Given the description of an element on the screen output the (x, y) to click on. 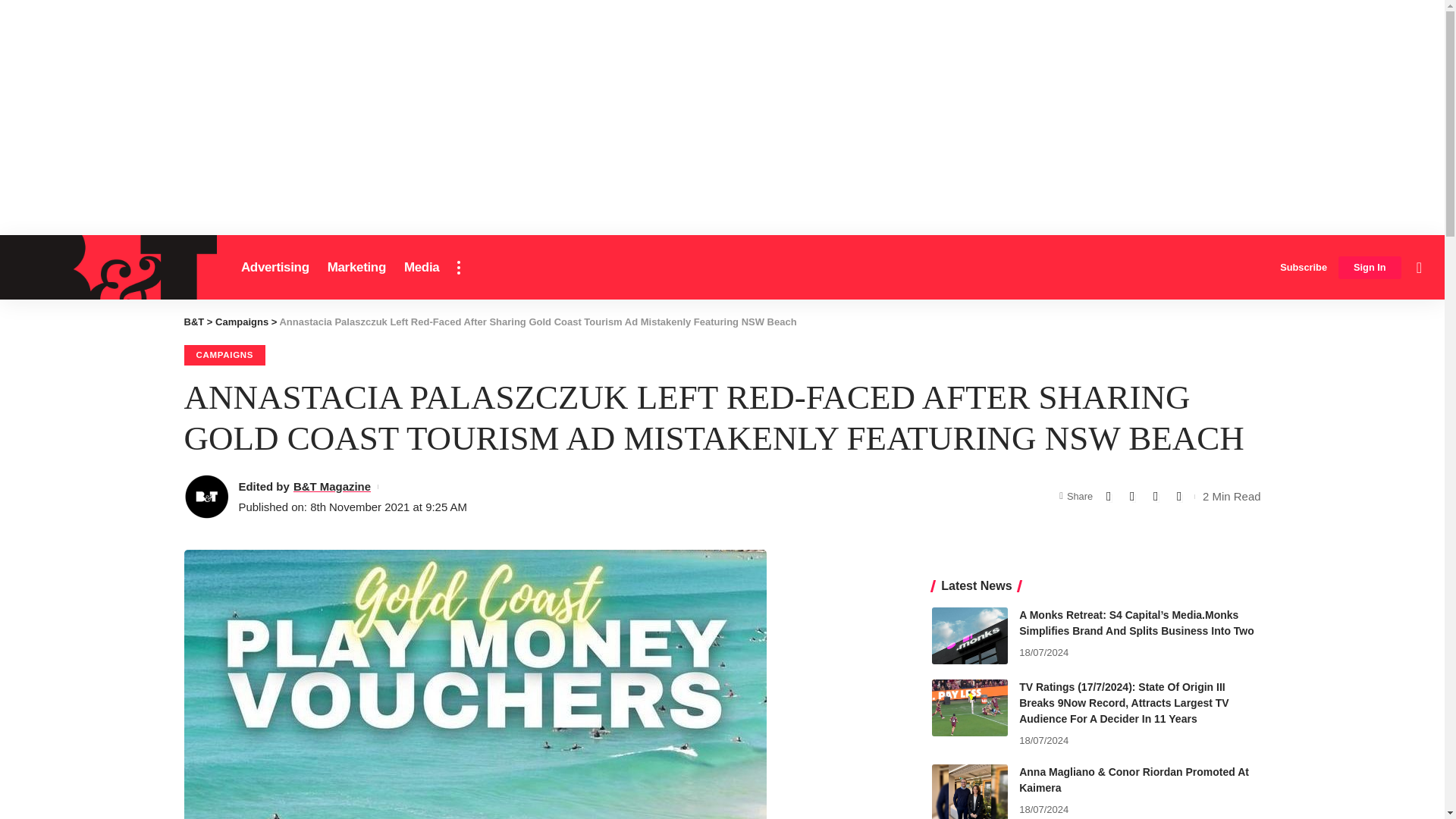
Go to the Campaigns Category archives. (241, 321)
Advertising (274, 267)
Marketing (356, 267)
Sign In (1369, 267)
